Given the description of an element on the screen output the (x, y) to click on. 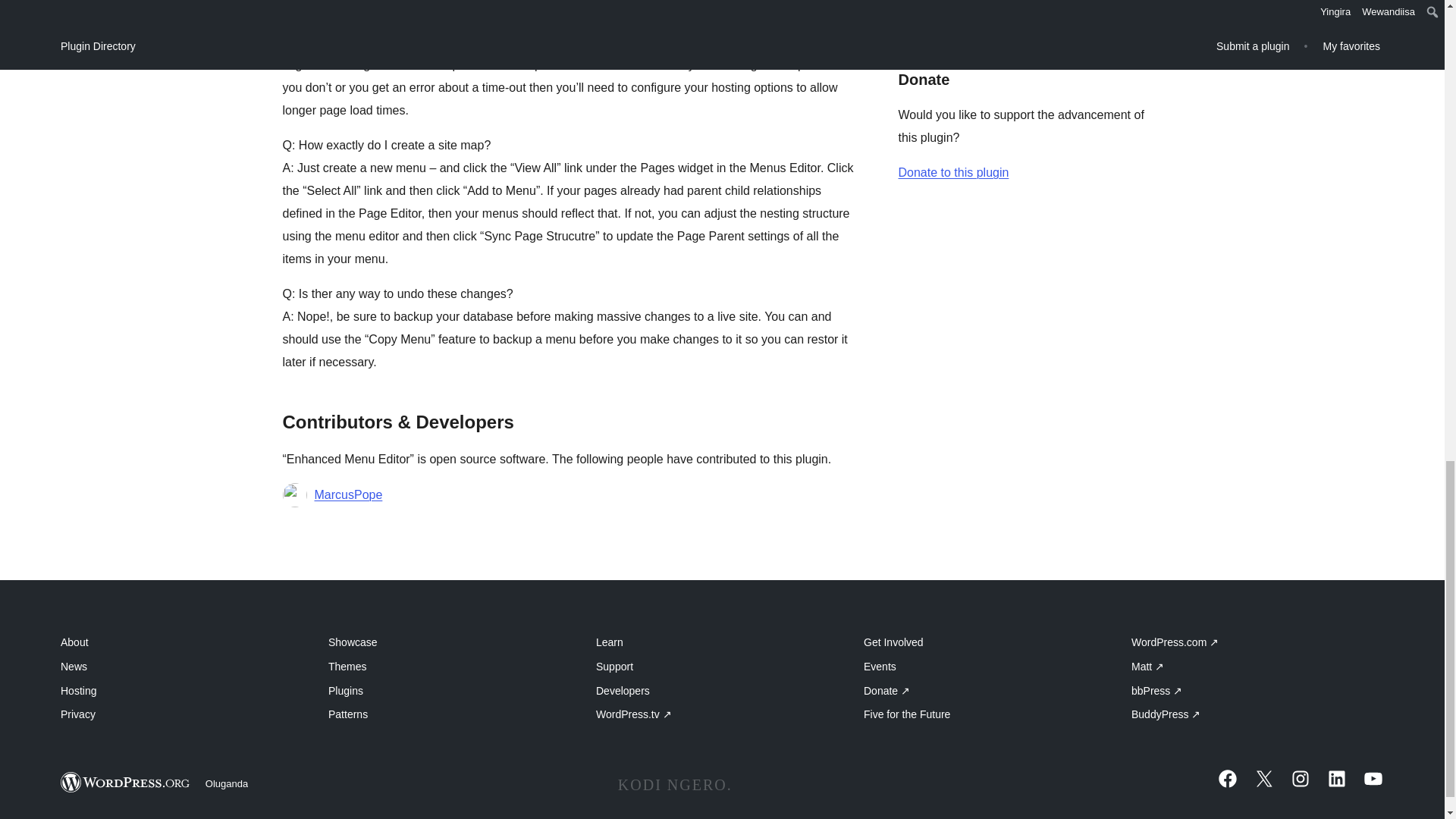
MarcusPope (347, 495)
WordPress.org (125, 782)
